Given the description of an element on the screen output the (x, y) to click on. 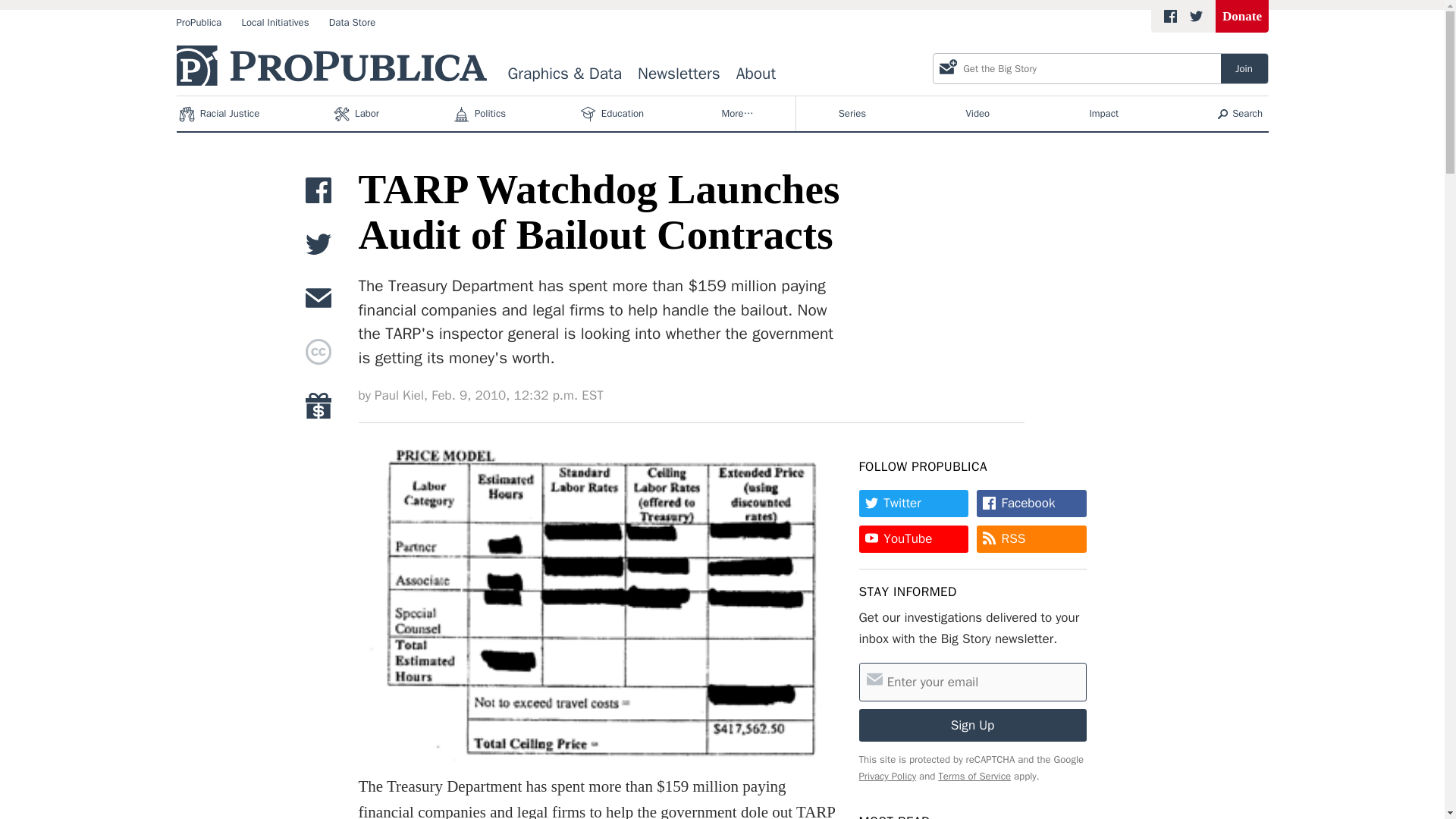
Share this story on Facebook (318, 193)
Sign Up (972, 725)
Politics (481, 113)
Donate (1241, 16)
Racial Justice (220, 113)
Search (1240, 113)
Rich Site Summary (1013, 538)
Data Store (352, 22)
Video (977, 113)
Education (613, 113)
Join (1244, 68)
Join (1244, 68)
Newsletters (679, 74)
About (755, 74)
Labor (358, 113)
